Given the description of an element on the screen output the (x, y) to click on. 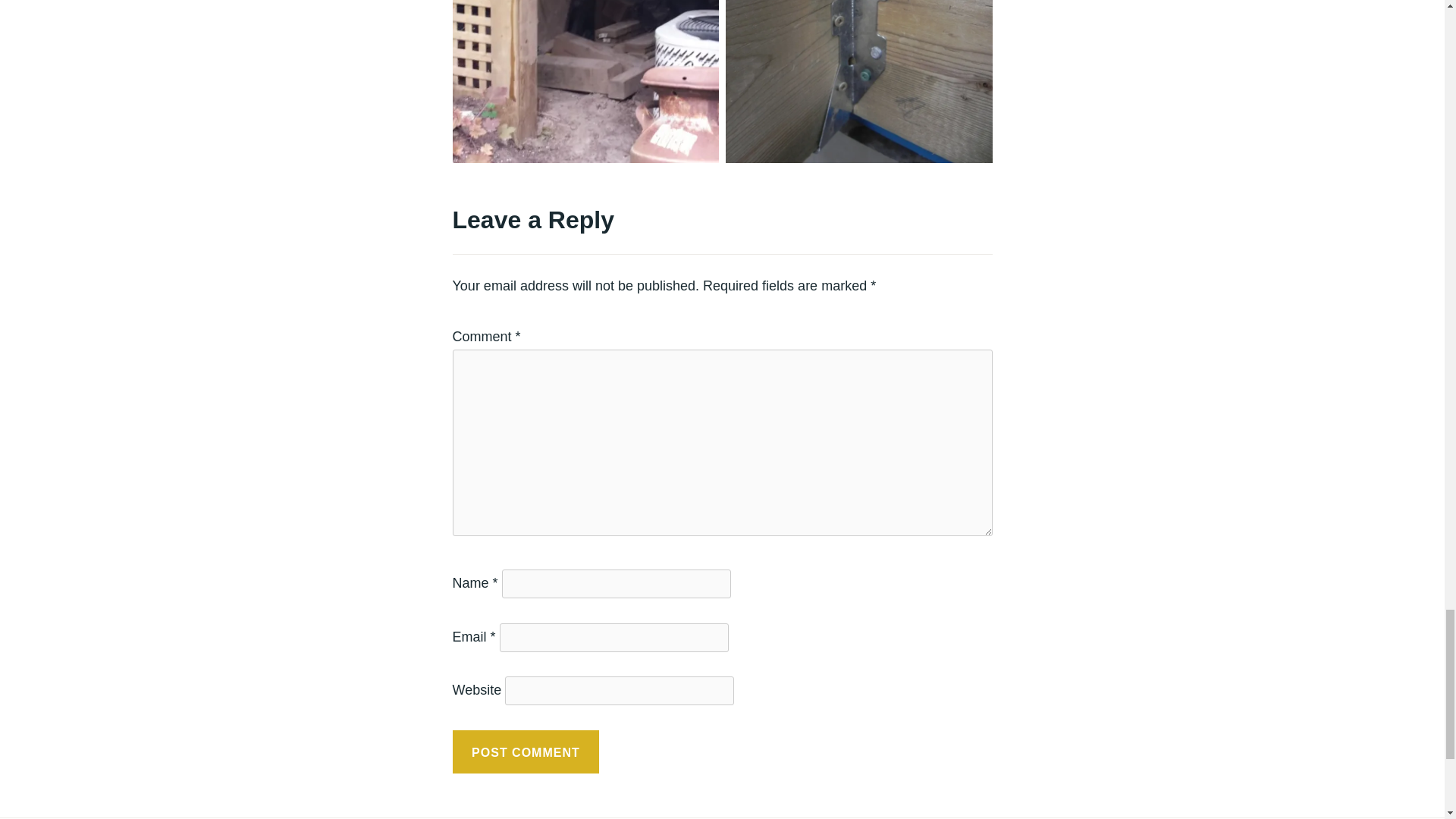
Post Comment (524, 751)
